Given the description of an element on the screen output the (x, y) to click on. 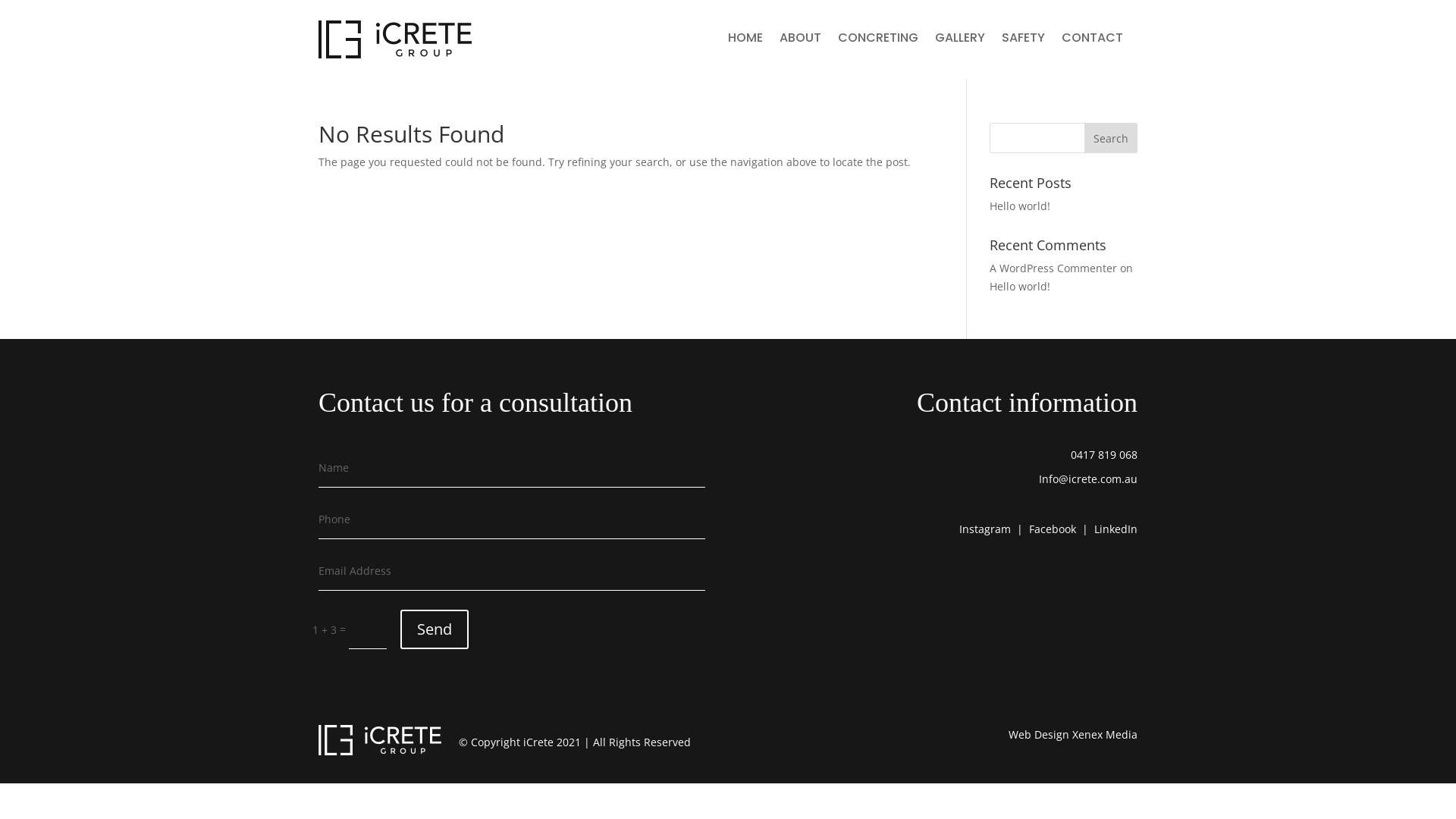
Search Element type: text (1110, 137)
Hello world! Element type: text (1019, 286)
HOME Element type: text (745, 40)
Facebook Element type: text (1052, 528)
Hello world! Element type: text (1019, 205)
GALLERY Element type: text (960, 40)
ABOUT Element type: text (800, 40)
Web Design Xenex Media Element type: text (1072, 734)
Info@icrete.com.au Element type: text (1087, 478)
CONTACT Element type: text (1092, 40)
Send Element type: text (434, 629)
A WordPress Commenter Element type: text (1053, 267)
Instagram Element type: text (984, 528)
LinkedIn Element type: text (1115, 528)
CONCRETING Element type: text (877, 40)
SAFETY Element type: text (1022, 40)
logo Element type: hover (394, 39)
